Given the description of an element on the screen output the (x, y) to click on. 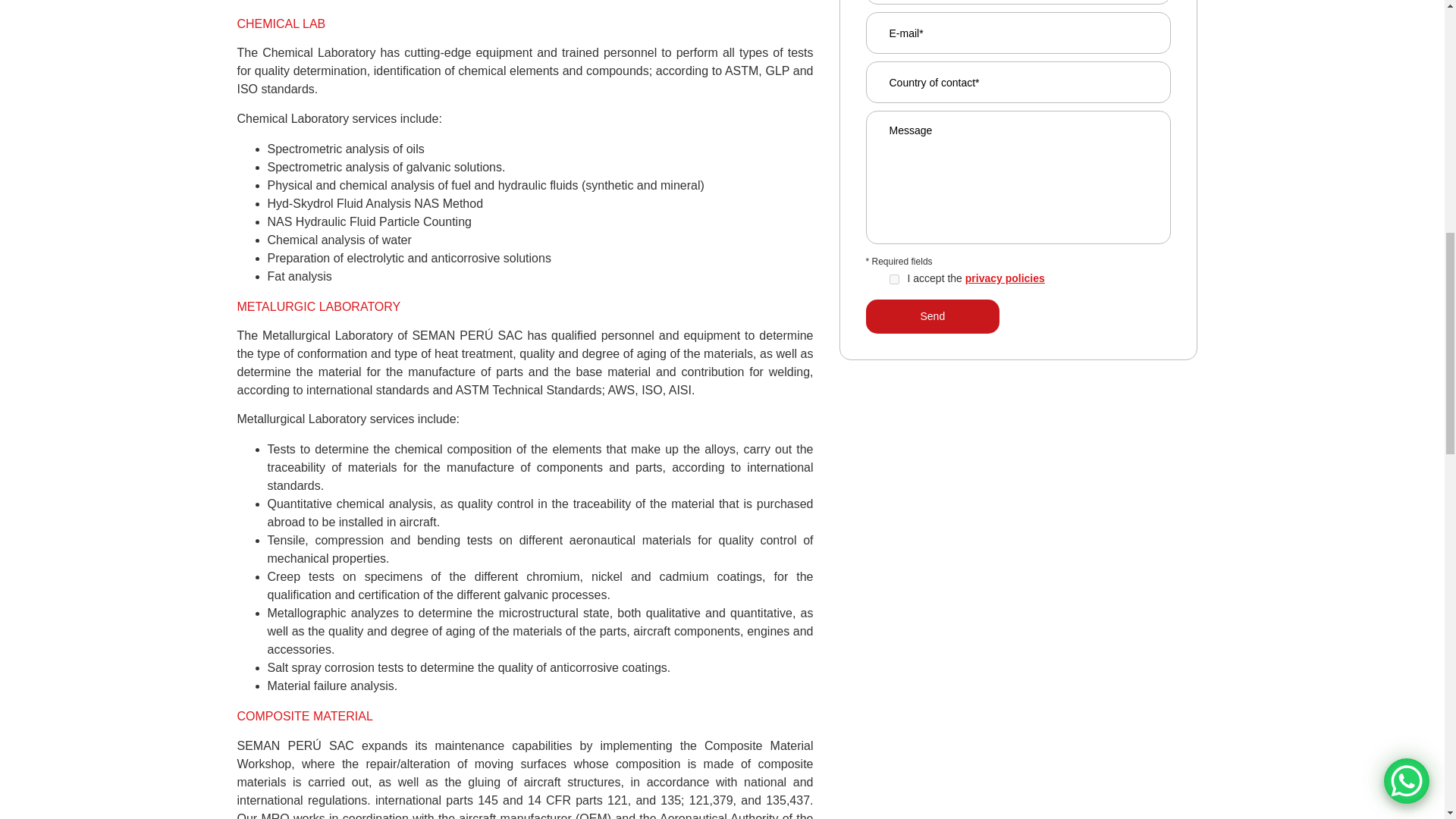
1 (893, 279)
Send (933, 316)
Send (933, 316)
privacy policies (1005, 277)
